Given the description of an element on the screen output the (x, y) to click on. 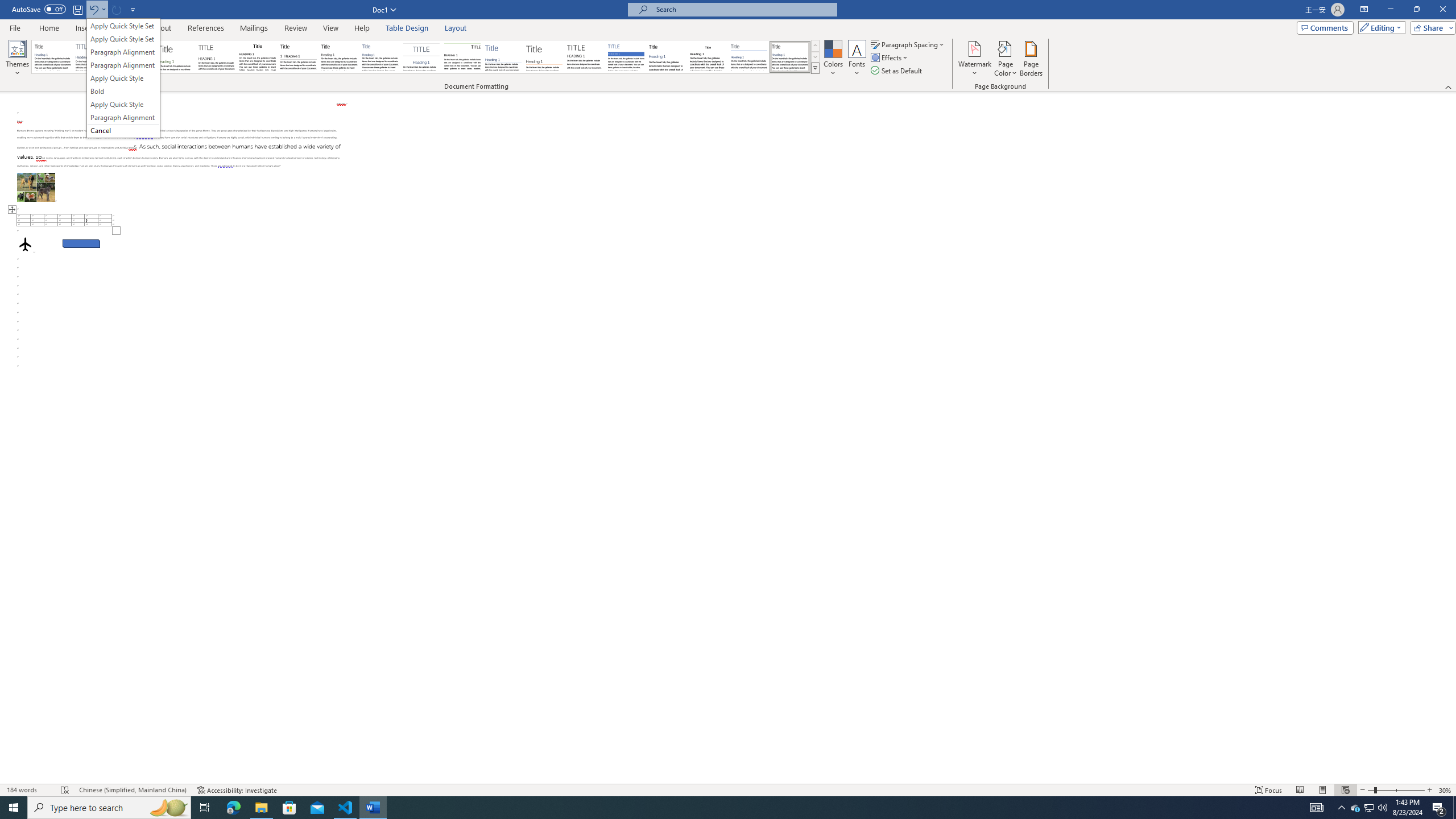
Paragraph Spacing (908, 44)
Word 2013 (790, 56)
Minimalist (584, 56)
Colors (832, 58)
Themes (17, 58)
&Undo Apply Quick Style Set (122, 78)
